Given the description of an element on the screen output the (x, y) to click on. 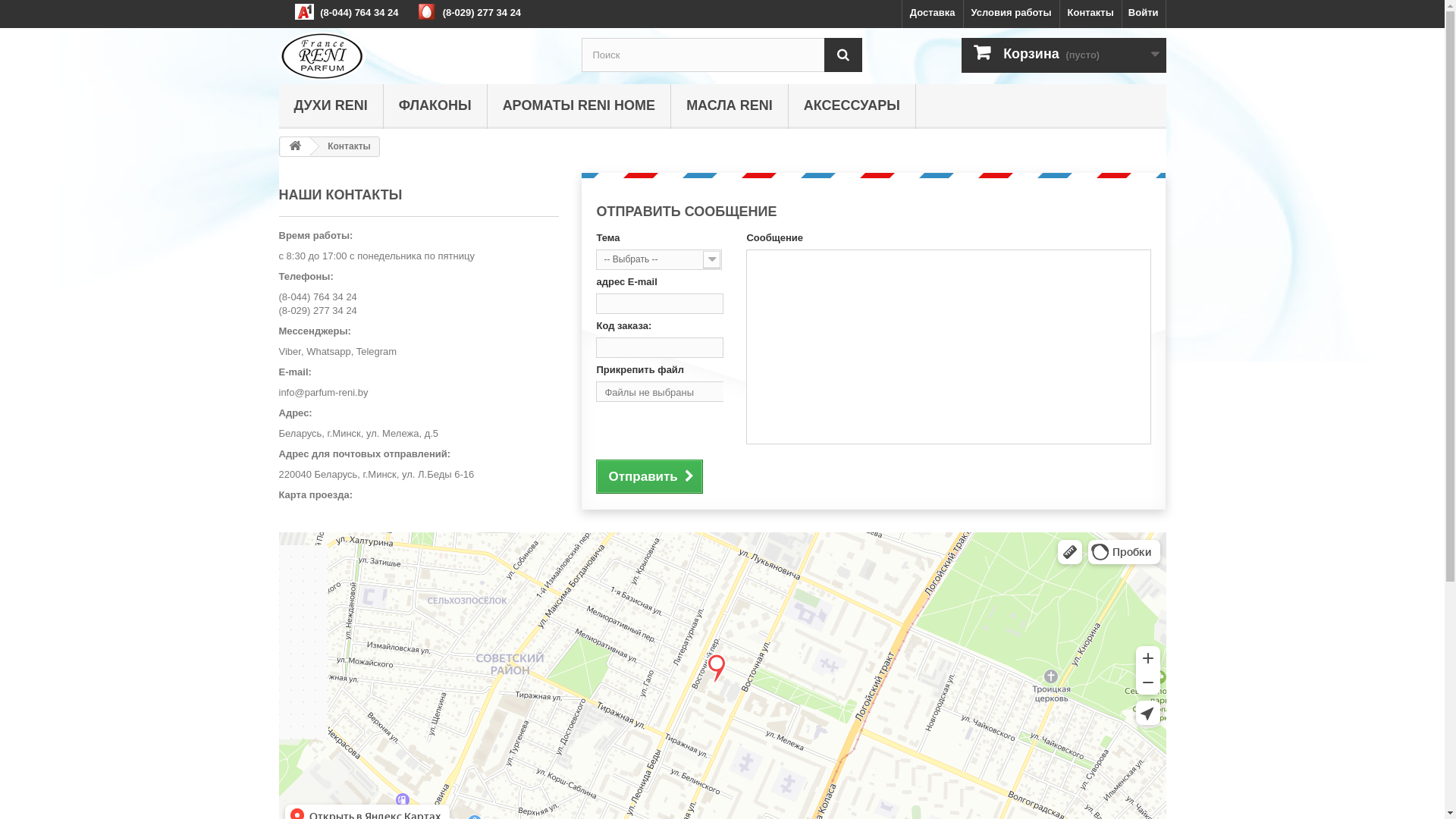
(8-029) 277 34 24 Element type: text (318, 310)
info@parfum-reni.by Element type: text (323, 392)
Whatsapp Element type: text (328, 351)
Reni Parfum Element type: hover (419, 55)
Viber Element type: text (290, 351)
(8-044) 764 34 24 Element type: text (359, 12)
(8-029) 277 34 24 Element type: text (481, 12)
Telegram Element type: text (376, 351)
(8-044) 764 34 24 Element type: text (318, 296)
